Given the description of an element on the screen output the (x, y) to click on. 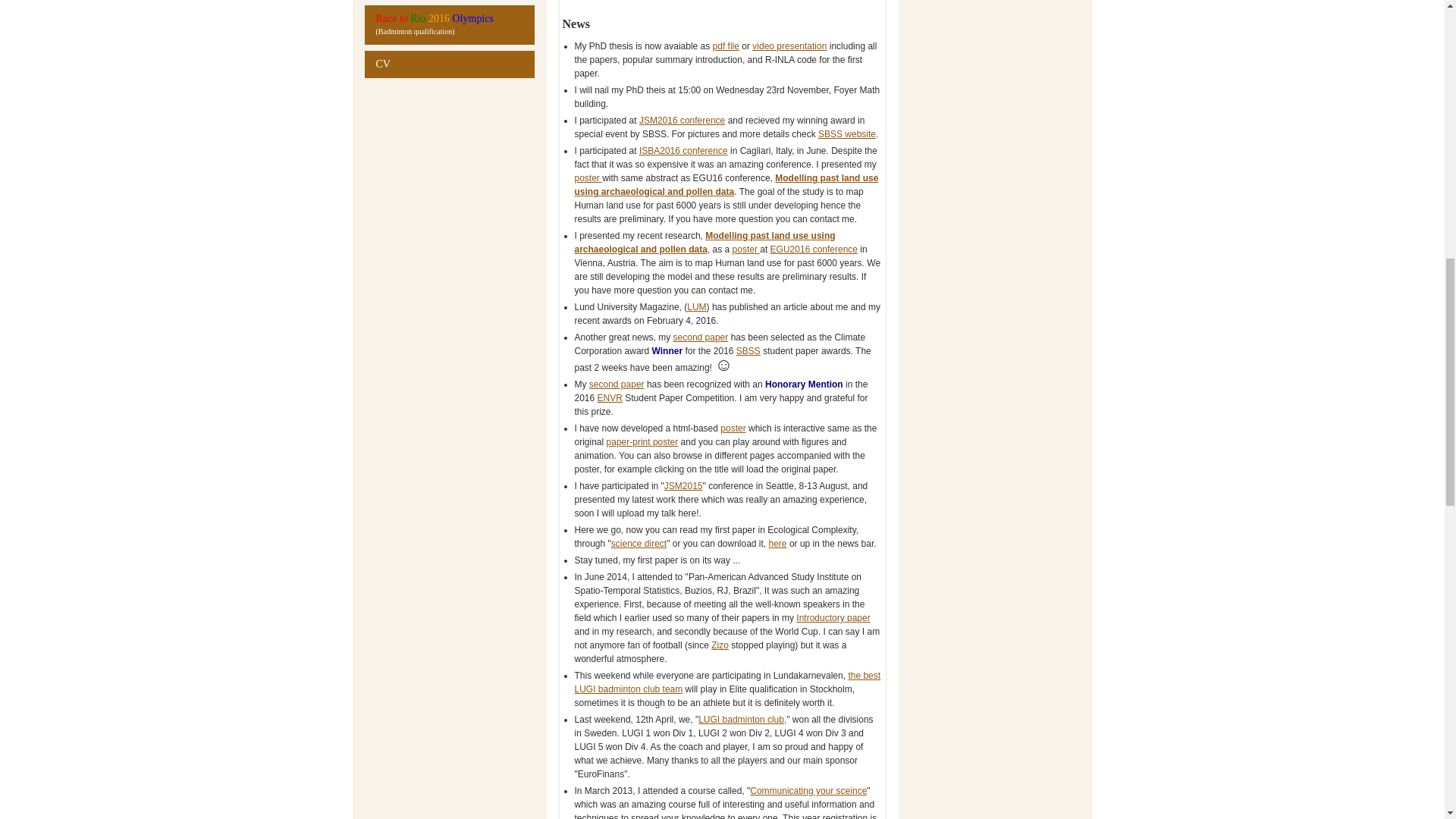
Best CV you should see before you die (449, 63)
